Given the description of an element on the screen output the (x, y) to click on. 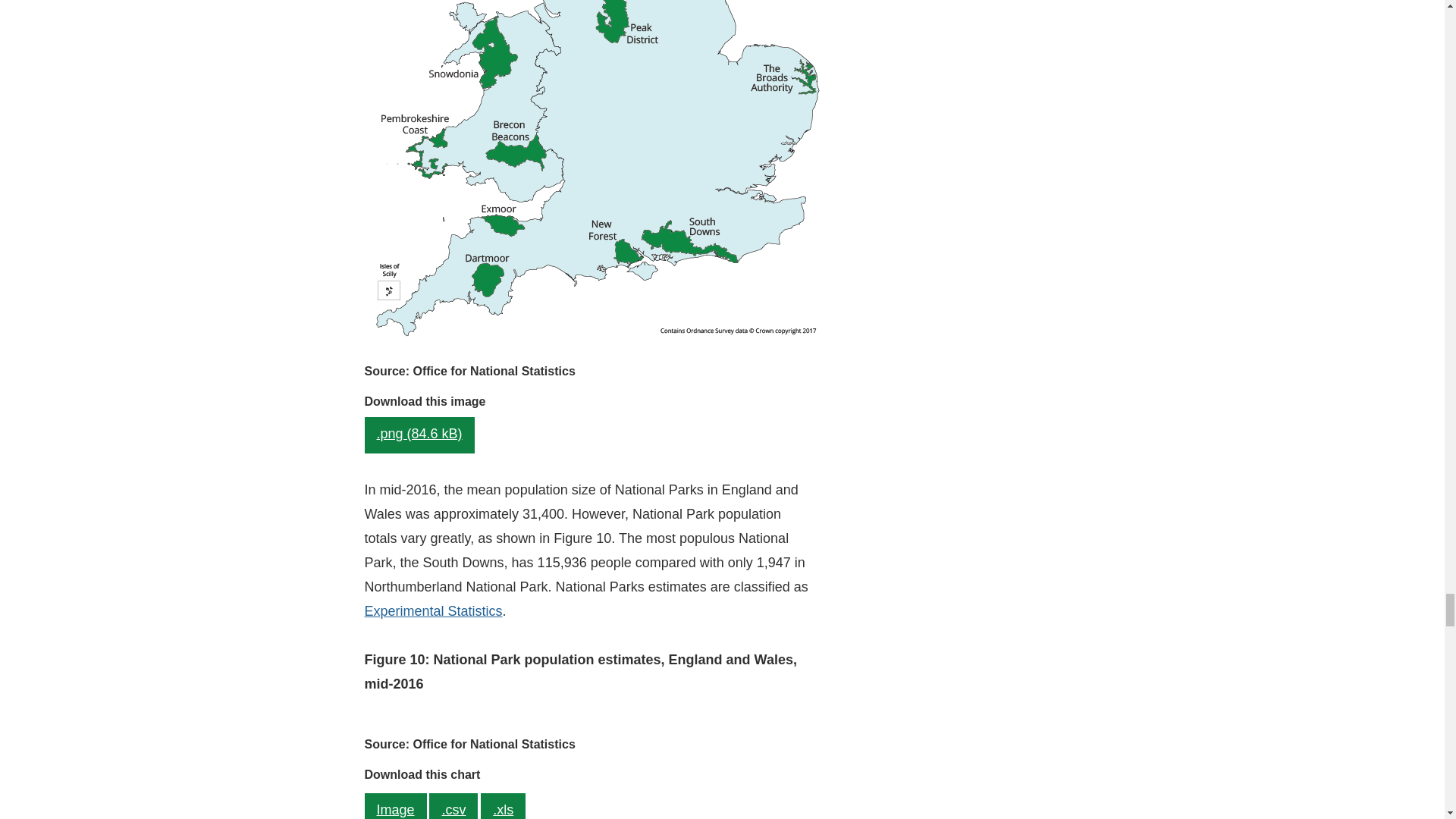
Download as png (419, 434)
Download as xls (502, 806)
Download as csv (453, 806)
